Given the description of an element on the screen output the (x, y) to click on. 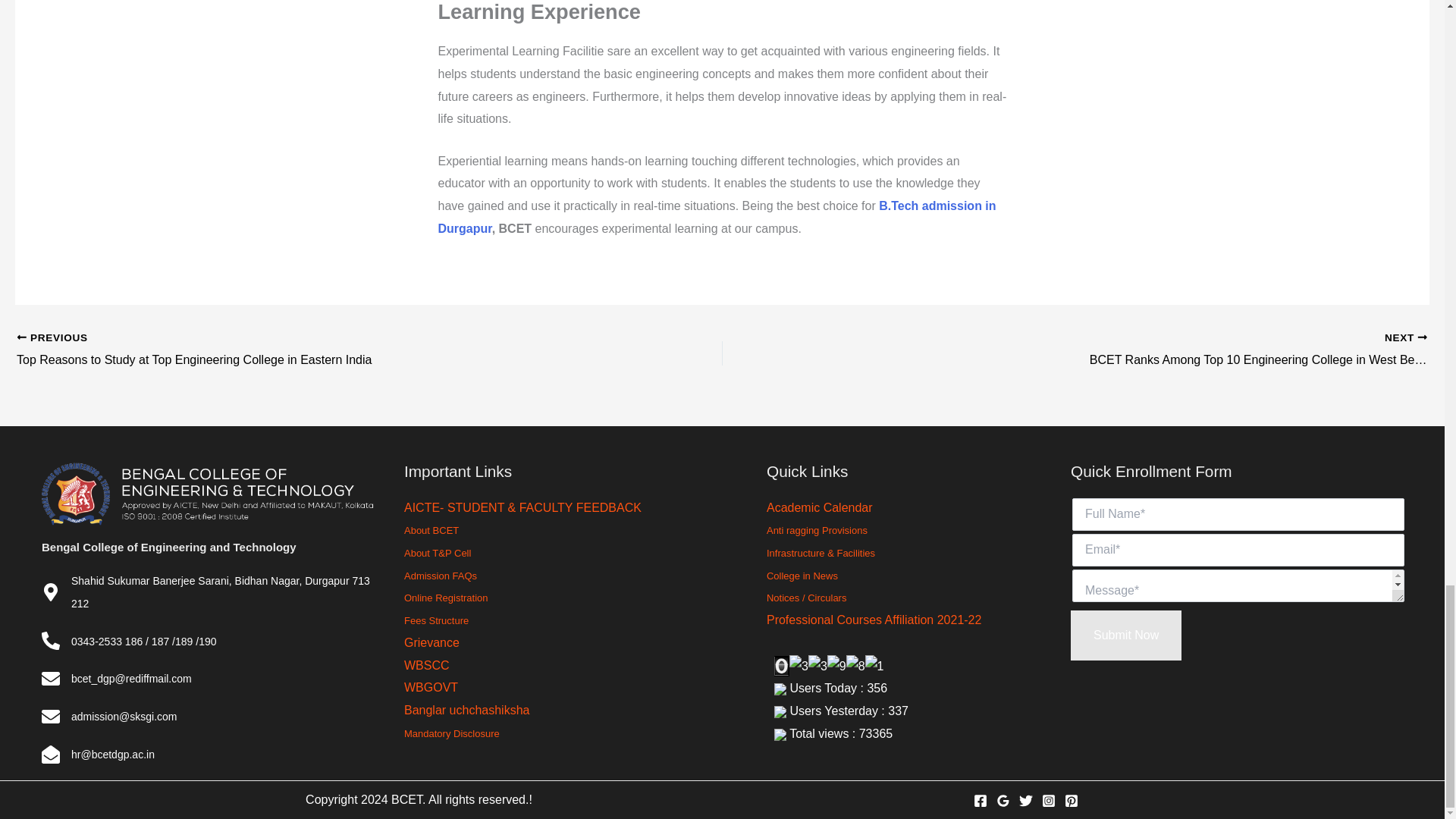
Submit Now (1125, 635)
